Given the description of an element on the screen output the (x, y) to click on. 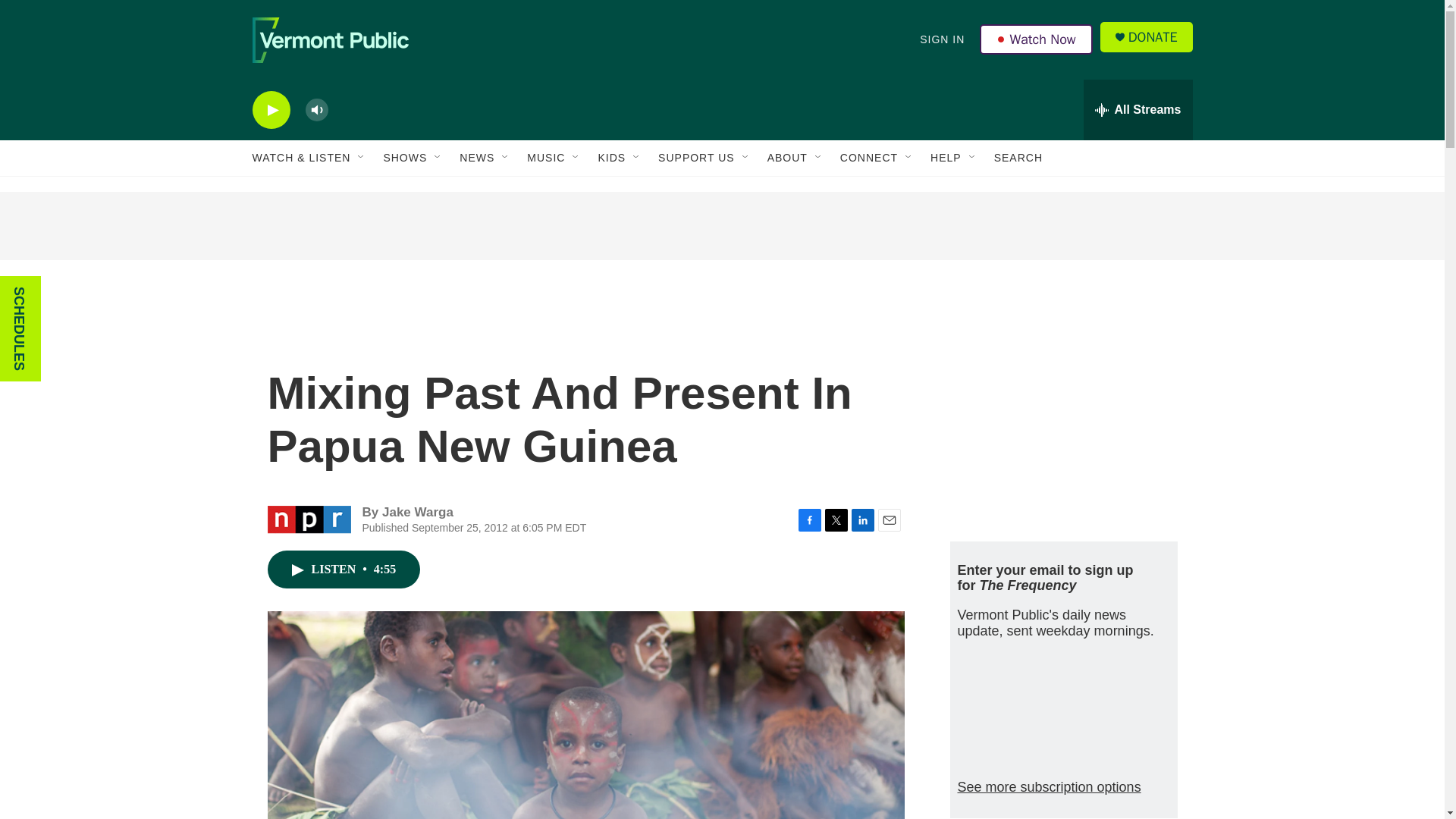
3rd party ad content (1062, 416)
3rd party ad content (721, 225)
